Given the description of an element on the screen output the (x, y) to click on. 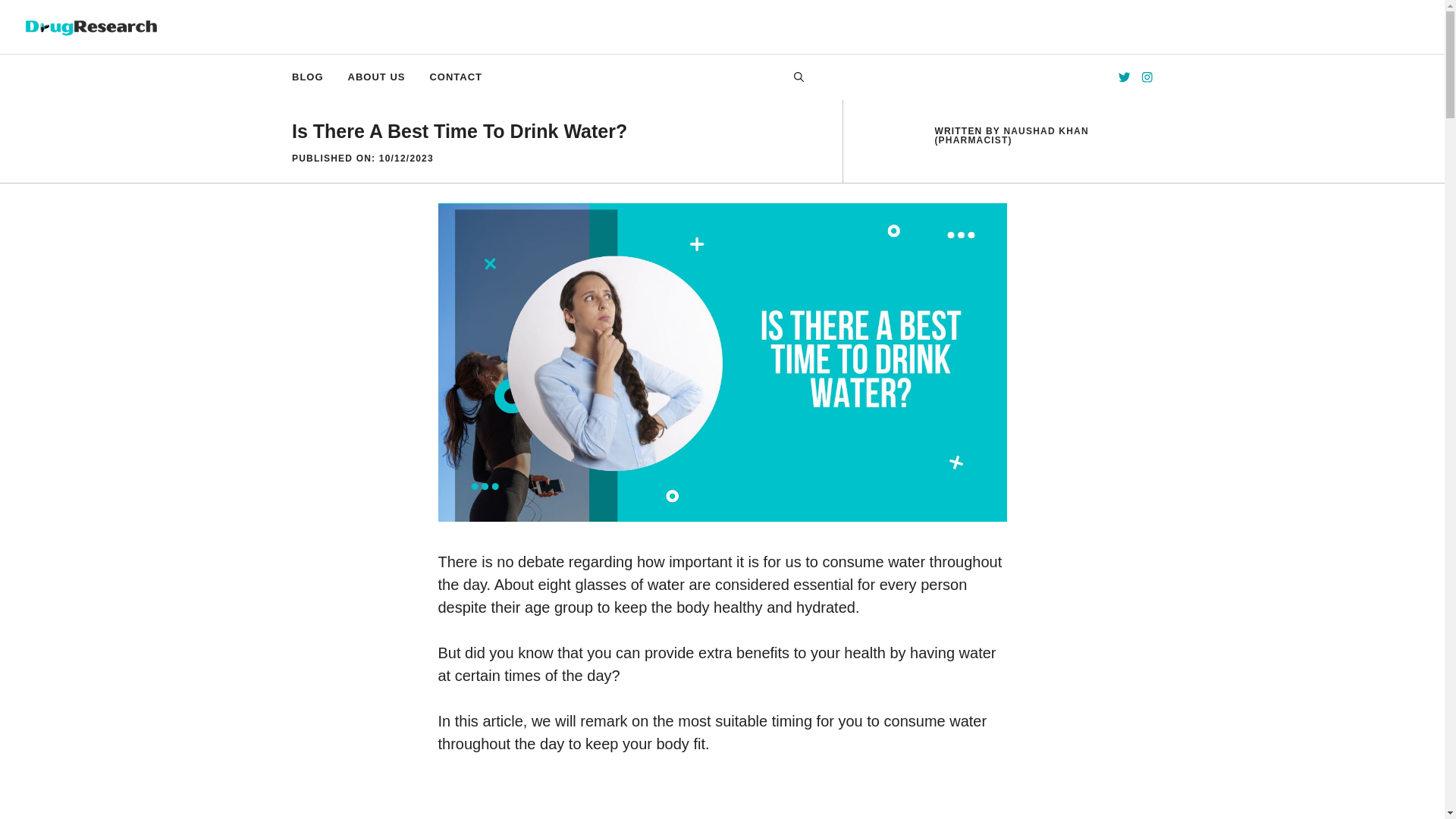
BLOG (307, 76)
ABOUT US (376, 76)
CONTACT (455, 76)
